Given the description of an element on the screen output the (x, y) to click on. 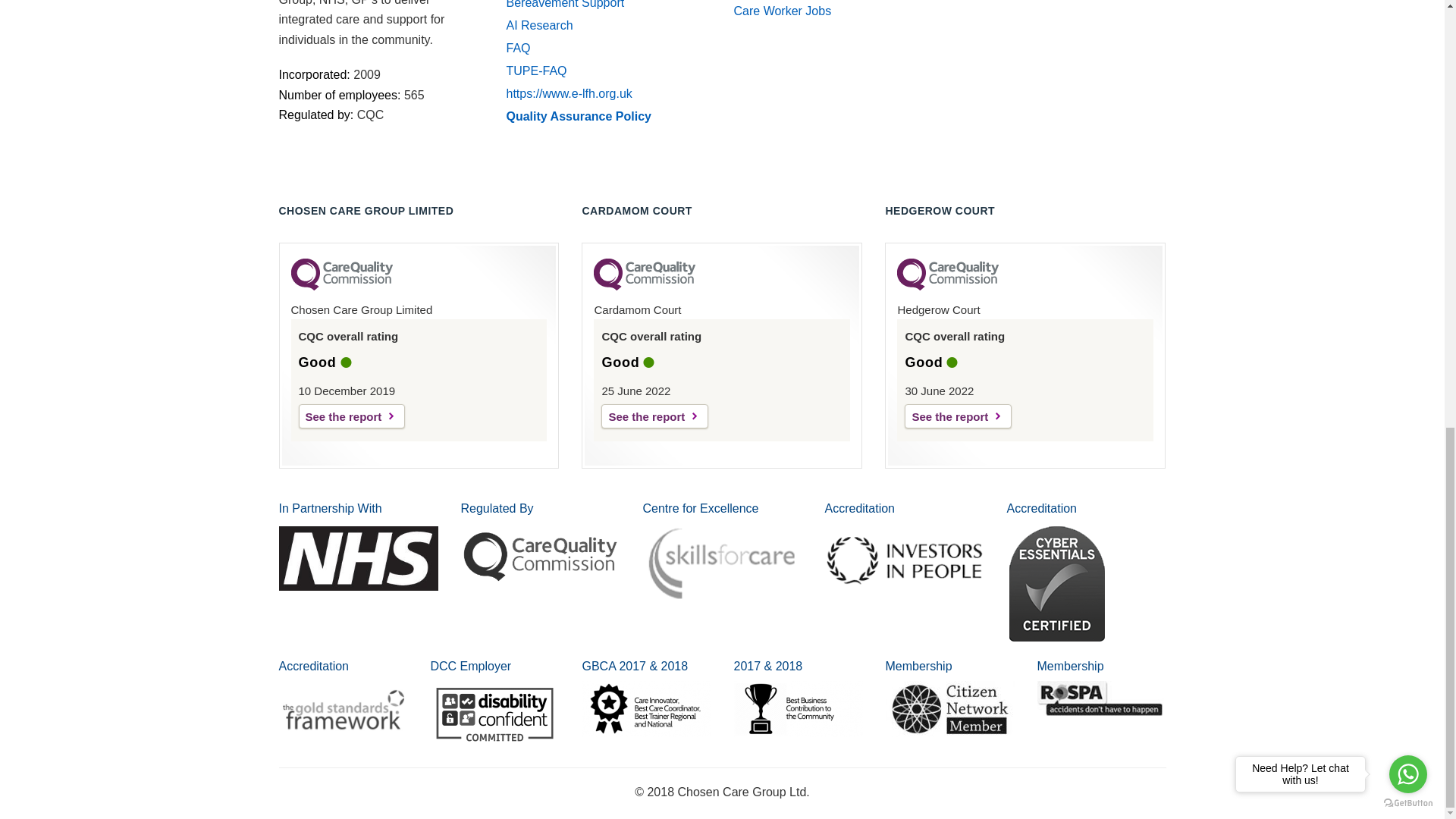
CQC Logo (342, 286)
CQC Logo (947, 286)
CQC Logo (644, 286)
